Given the description of an element on the screen output the (x, y) to click on. 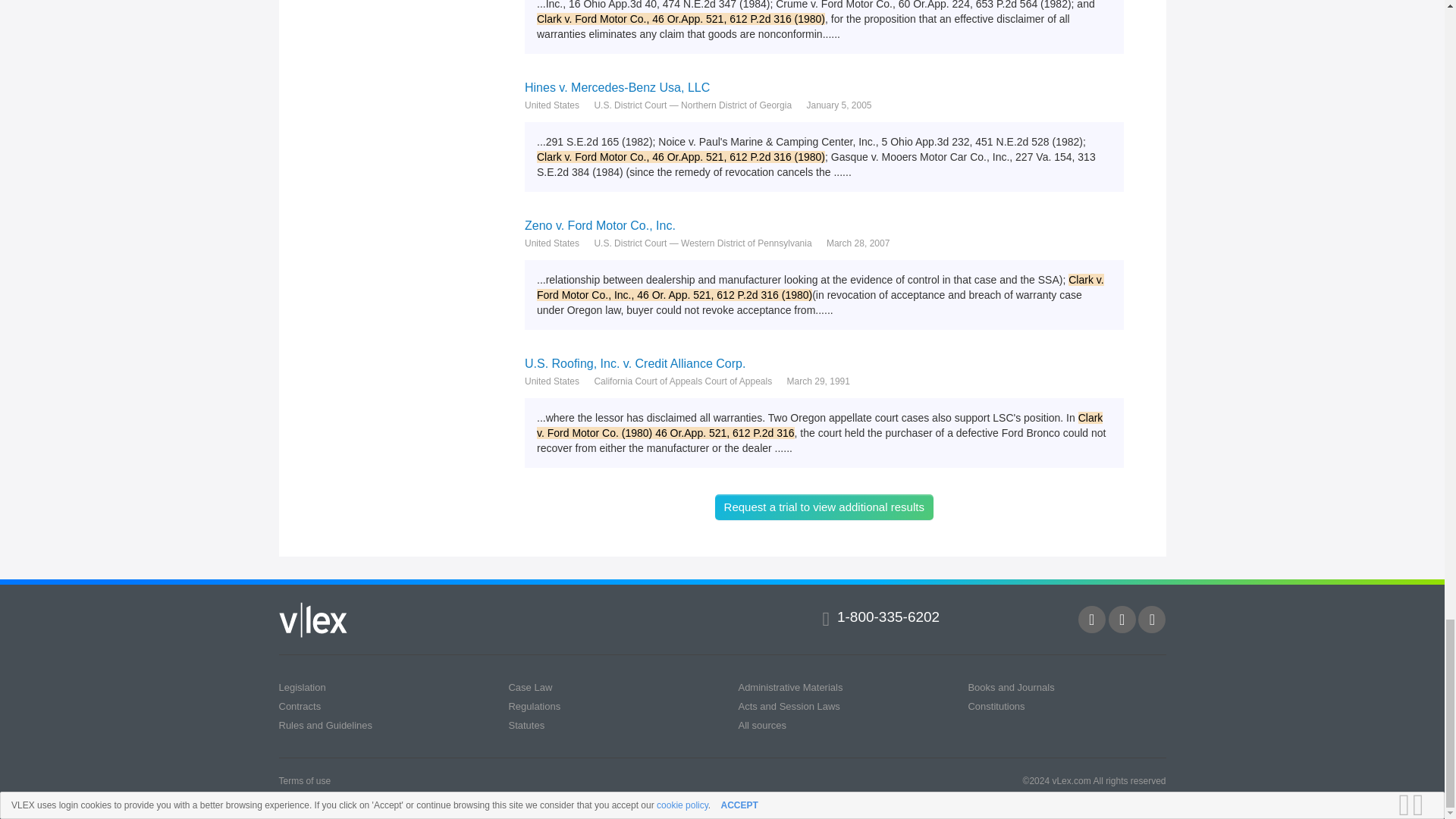
Regulations (534, 706)
U.S. Roofing, Inc. v. Credit Alliance Corp. (824, 363)
January 5, 2005 (838, 105)
California Court of Appeals Court of Appeals (682, 381)
U.S. Roofing, Inc. v. Credit Alliance Corp. (824, 363)
Rules and Guidelines (325, 725)
Books and Journals (1011, 686)
vLex (313, 619)
United States (551, 381)
United States (551, 105)
